Given the description of an element on the screen output the (x, y) to click on. 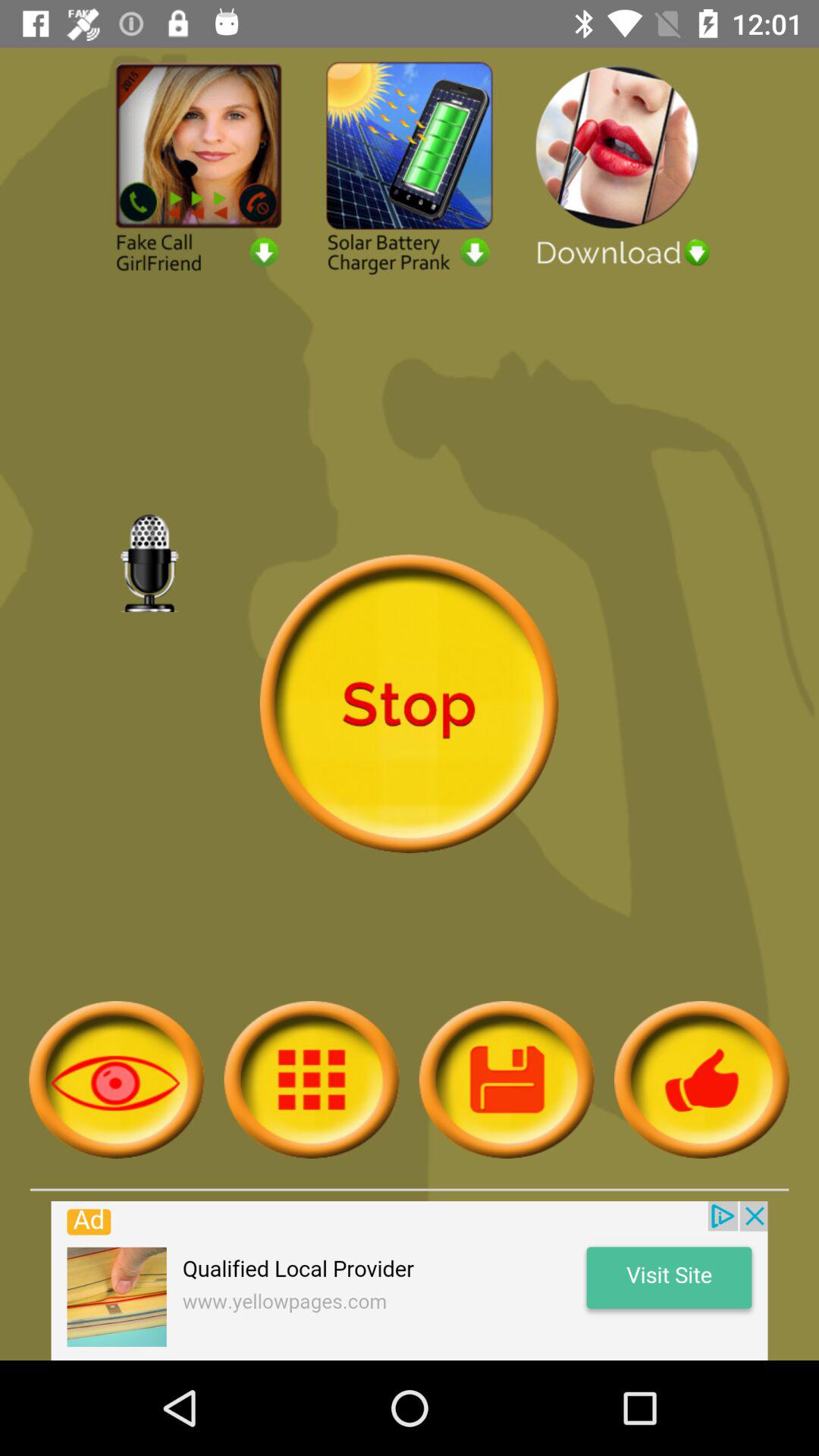
like us (701, 1079)
